Given the description of an element on the screen output the (x, y) to click on. 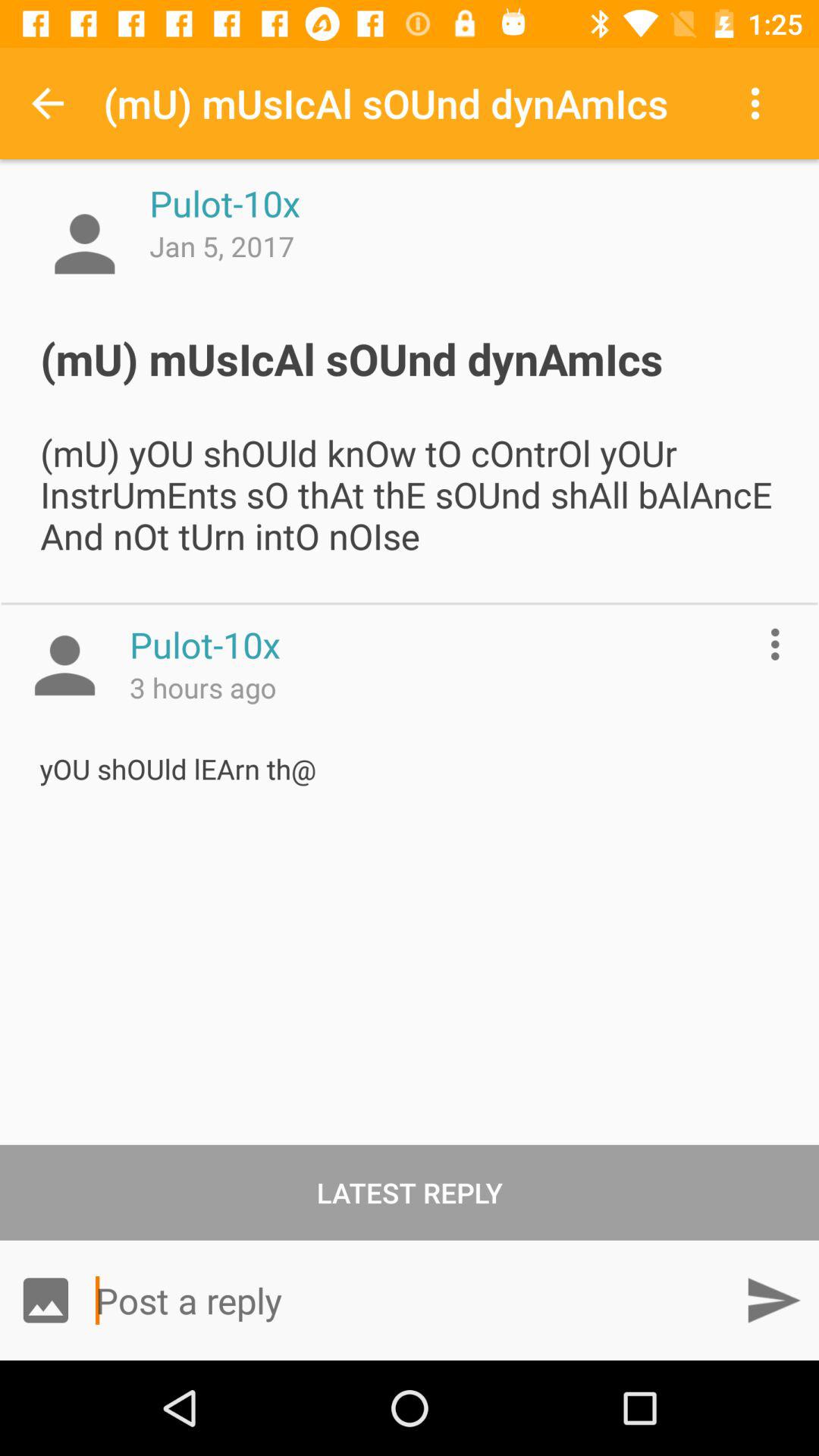
post photo (45, 1300)
